Given the description of an element on the screen output the (x, y) to click on. 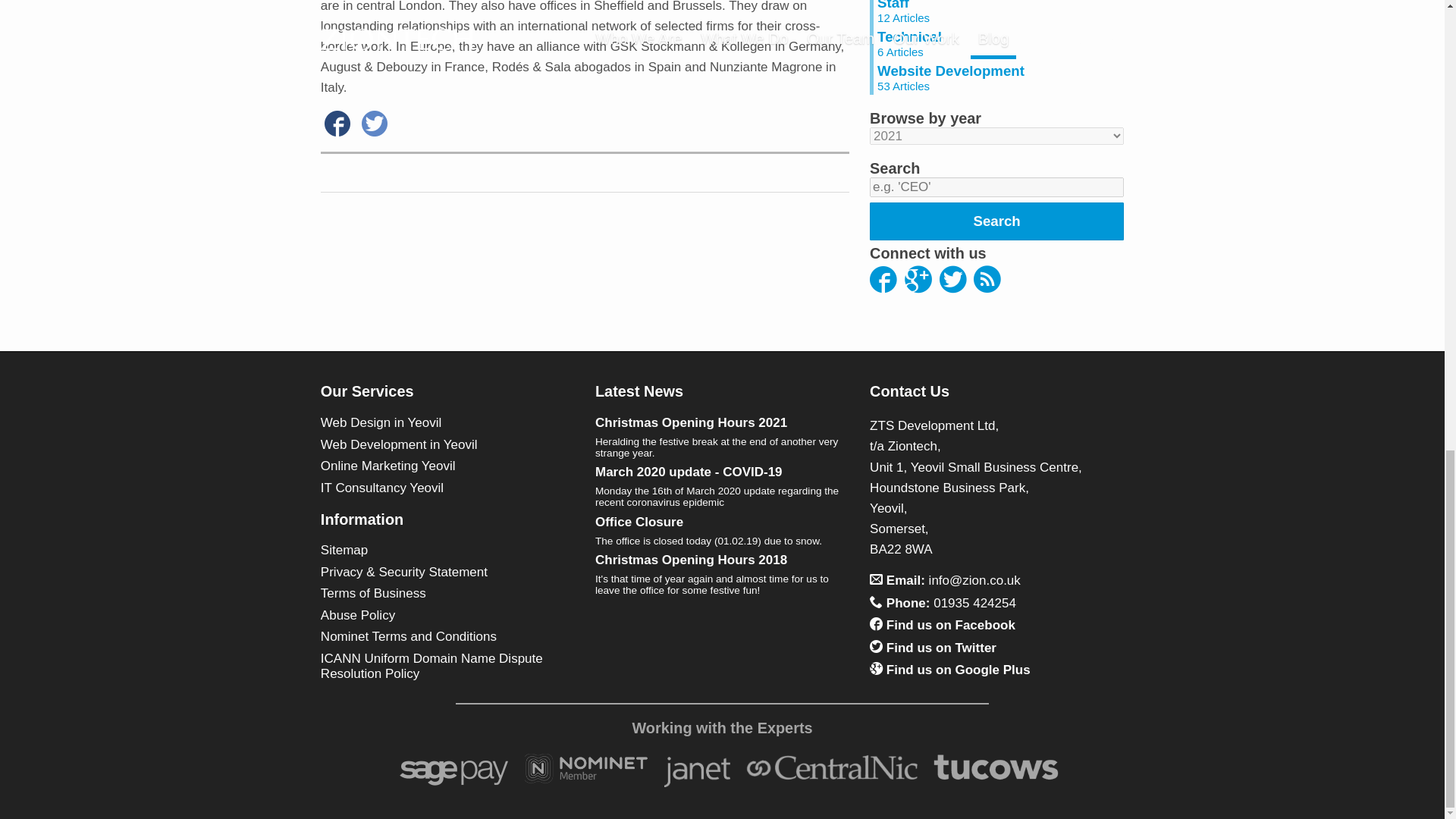
Connect with us on Twitter (952, 281)
Search (996, 221)
Atom Feed for our Blog (987, 281)
Our Services (366, 391)
Web Design in Yeovil (998, 77)
Online Marketing Yeovil (447, 422)
Connect with us on Facebook (998, 43)
Search (447, 466)
